Given the description of an element on the screen output the (x, y) to click on. 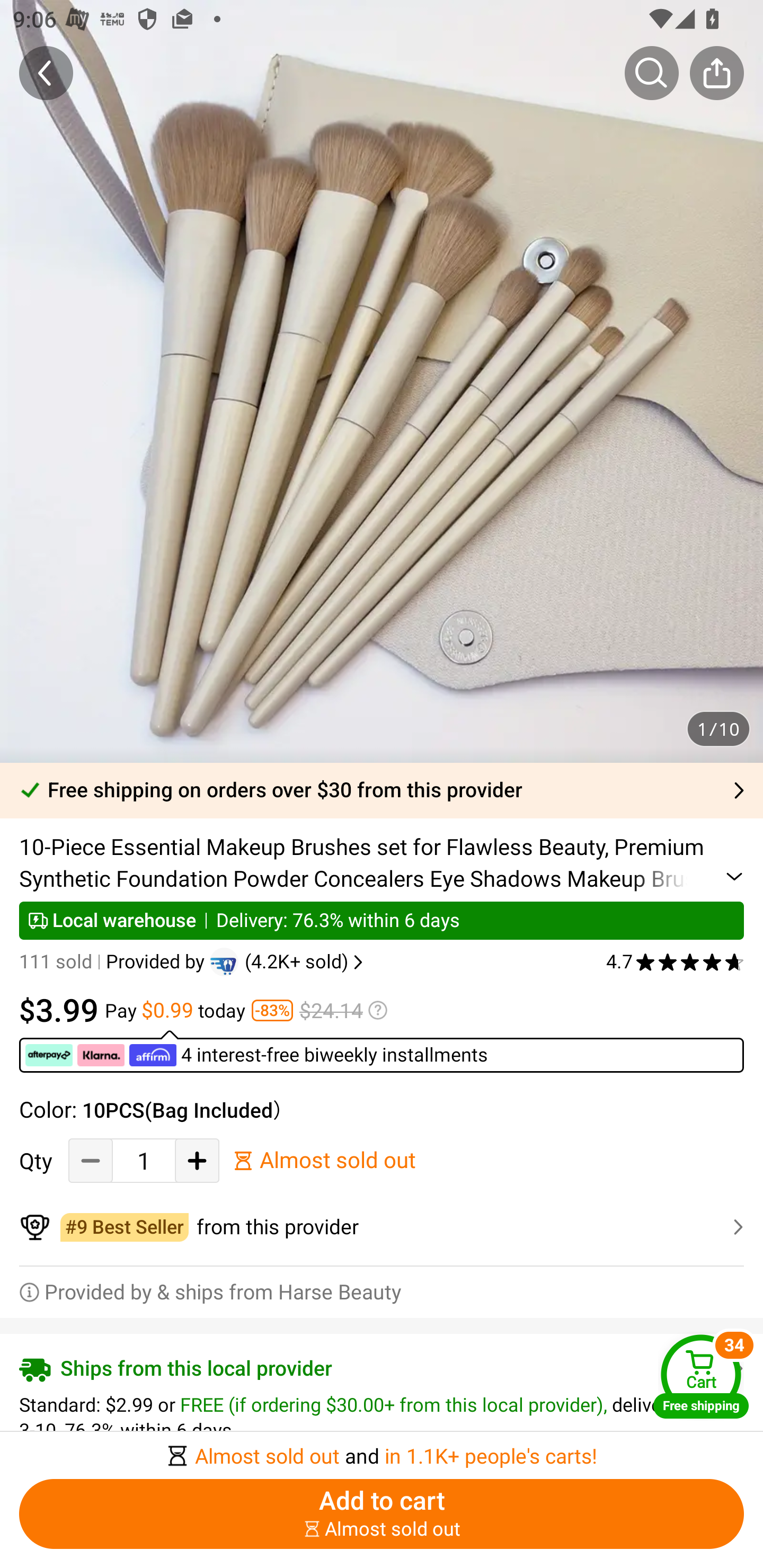
Back (46, 72)
Share (716, 72)
Local warehouse Delivery: 76.3% within 6 days (381, 920)
111 sold Provided by  (114, 961)
4.7 (674, 961)
￼ ￼ ￼ 4 interest-free biweekly installments (381, 1051)
￼ ￼ ￼ 4 interest-free biweekly installments (257, 1055)
Decrease Quantity Button (90, 1160)
Add Quantity button (196, 1160)
1 (143, 1160)
￼￼from this provider (381, 1226)
Cart Free shipping Cart (701, 1375)
￼￼Almost sold out and in 1.1K+ people's carts! (381, 1450)
Add to cart ￼￼Almost sold out (381, 1513)
